Given the description of an element on the screen output the (x, y) to click on. 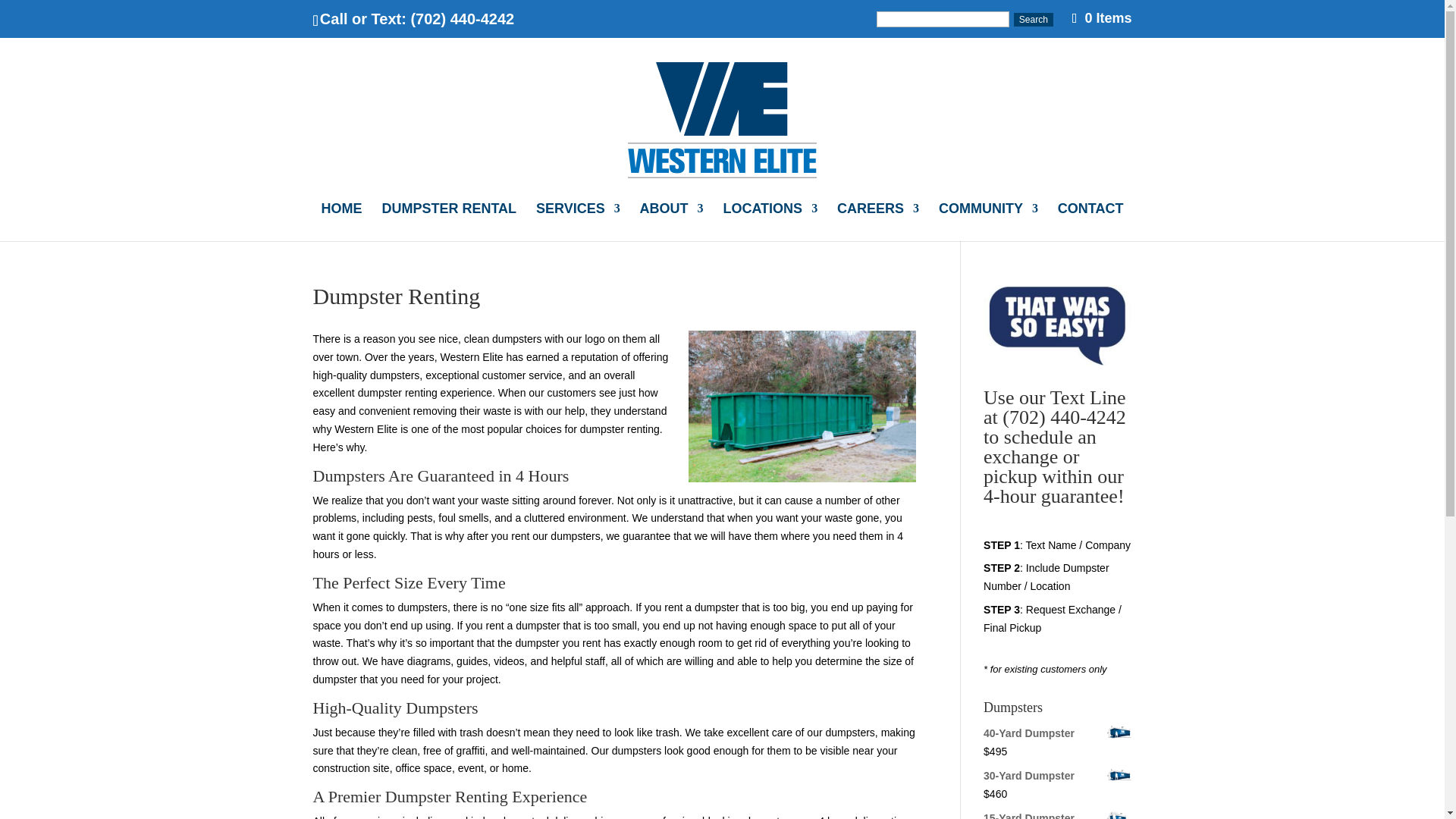
DUMPSTER RENTAL (448, 221)
40-Yard Dumpster (1057, 733)
15-Yard Dumpster (1057, 814)
Search (1032, 19)
CONTACT (1091, 221)
CAREERS (877, 221)
30-Yard Dumpster (1057, 776)
Search (1032, 19)
ABOUT (671, 221)
SERVICES (577, 221)
HOME (341, 221)
LOCATIONS (769, 221)
COMMUNITY (988, 221)
0 Items (1101, 17)
